Given the description of an element on the screen output the (x, y) to click on. 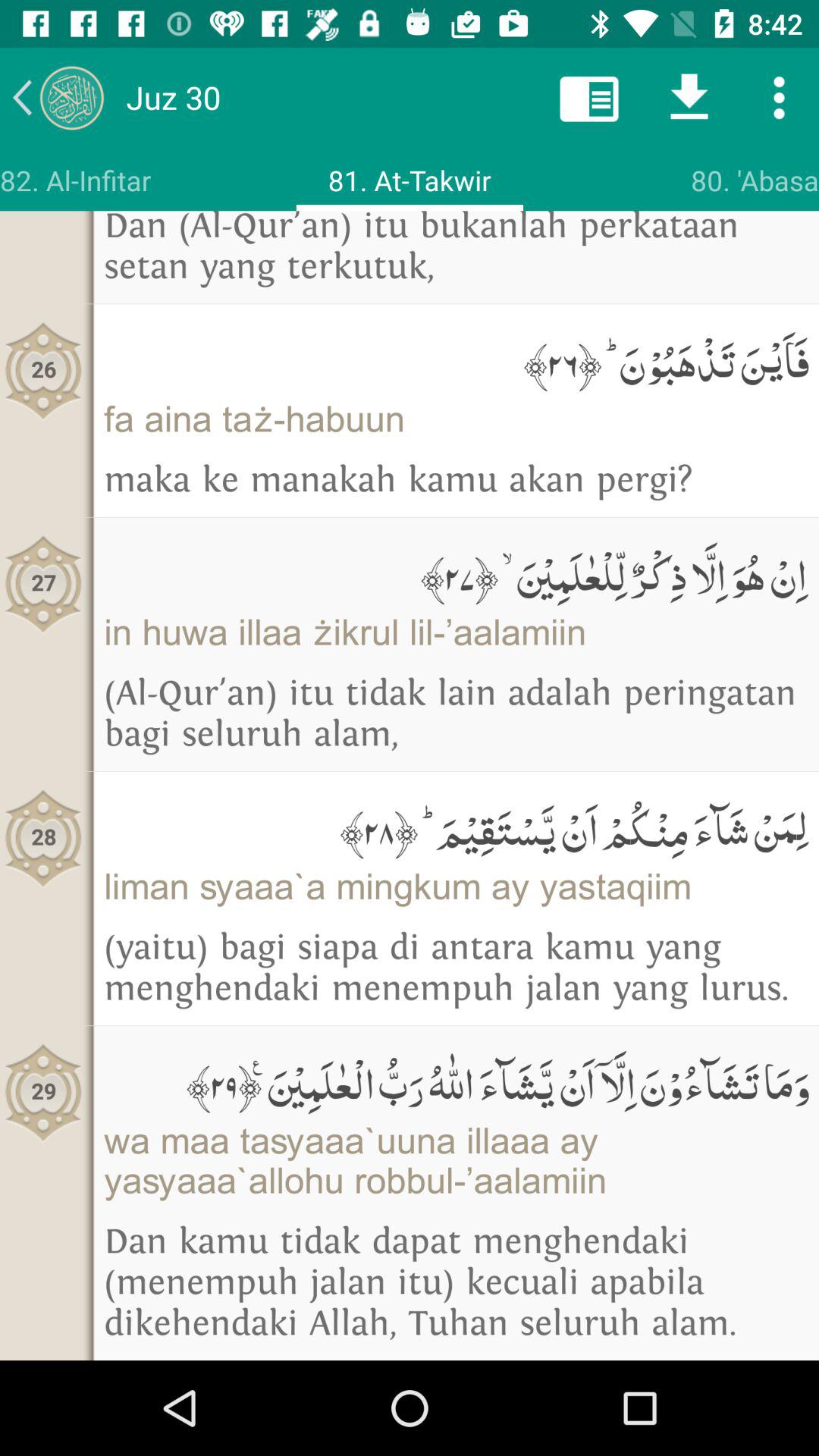
download icon (689, 97)
